Given the description of an element on the screen output the (x, y) to click on. 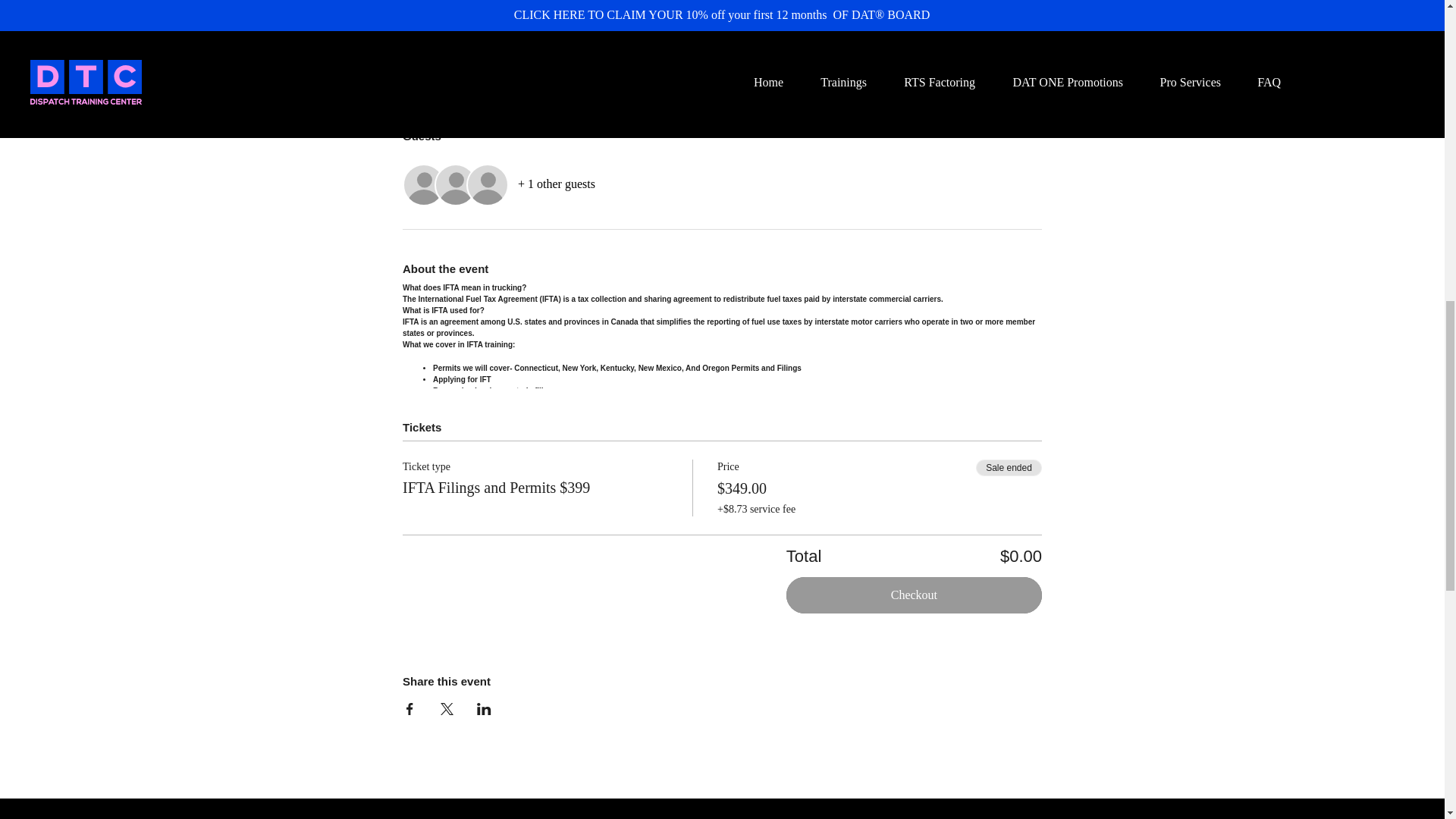
Checkout (914, 595)
